Given the description of an element on the screen output the (x, y) to click on. 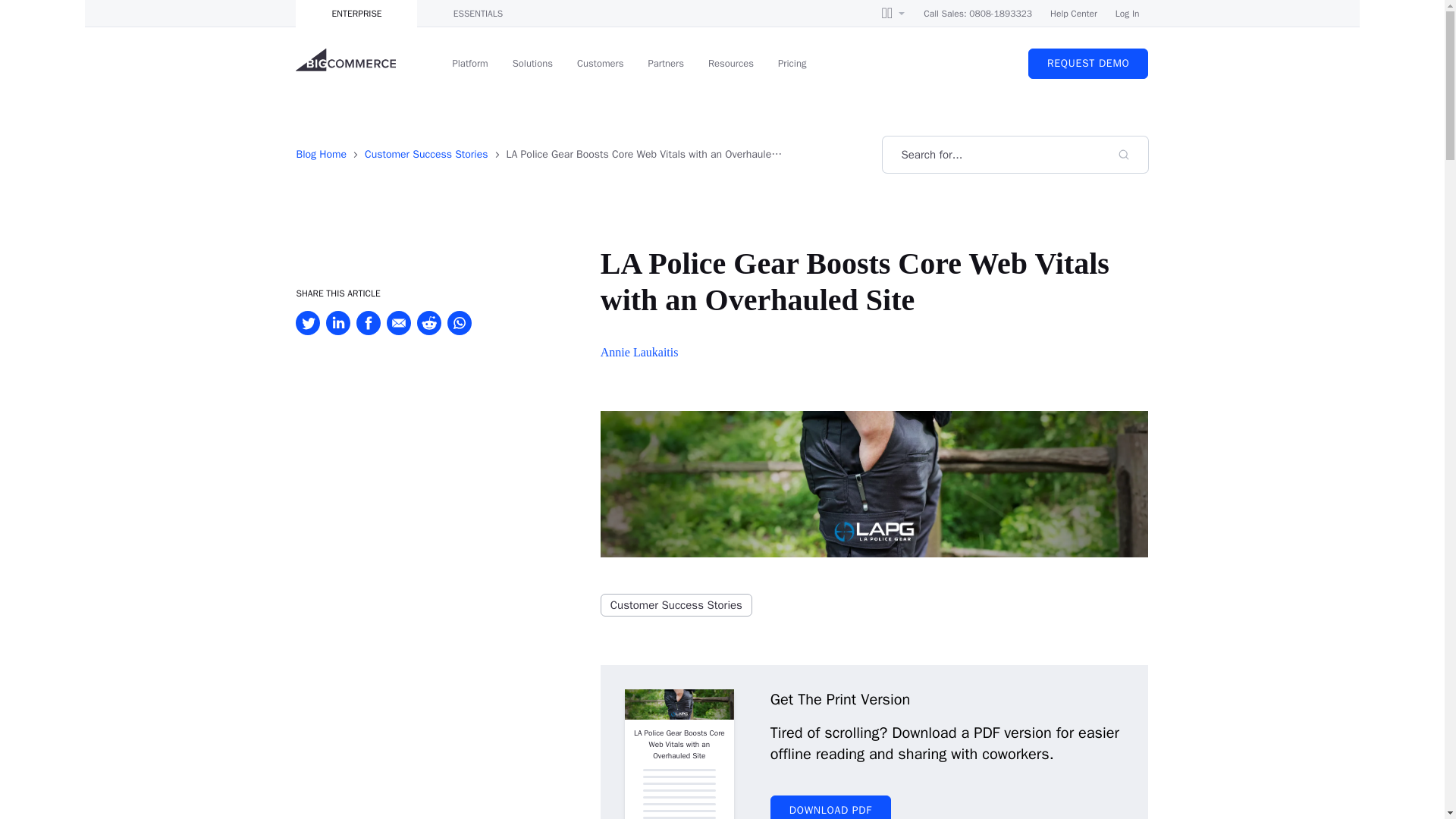
ESSENTIALS (477, 13)
Help Center (1073, 13)
Call Sales: 0808-1893323 (977, 13)
ENTERPRISE (355, 13)
